Given the description of an element on the screen output the (x, y) to click on. 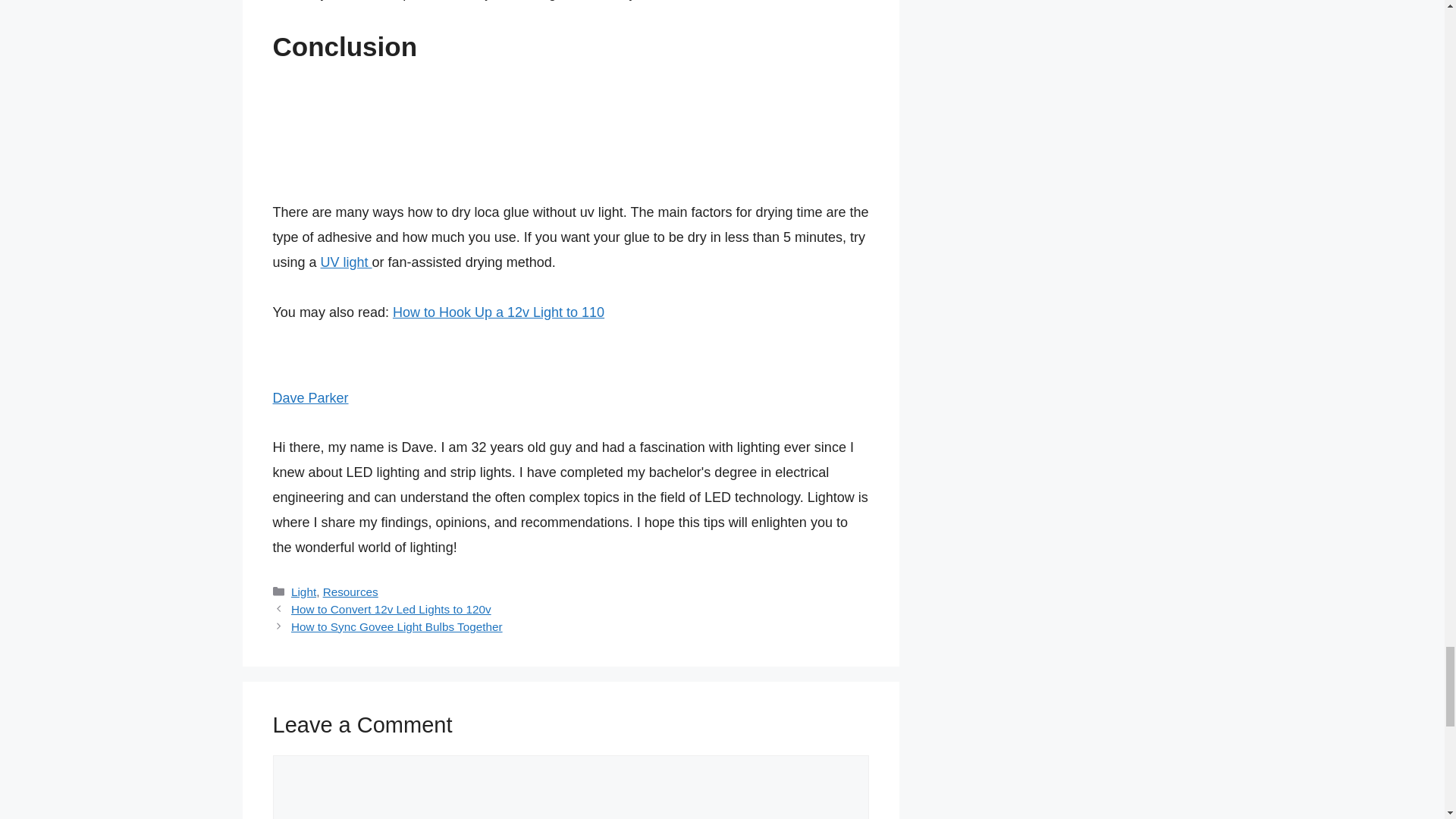
UV light (346, 262)
Resources (350, 591)
Light (303, 591)
How to Convert 12v Led Lights to 120v (391, 608)
How to Hook Up a 12v Light to 110 (498, 312)
How to Sync Govee Light Bulbs Together (396, 626)
Dave Parker (311, 397)
